Given the description of an element on the screen output the (x, y) to click on. 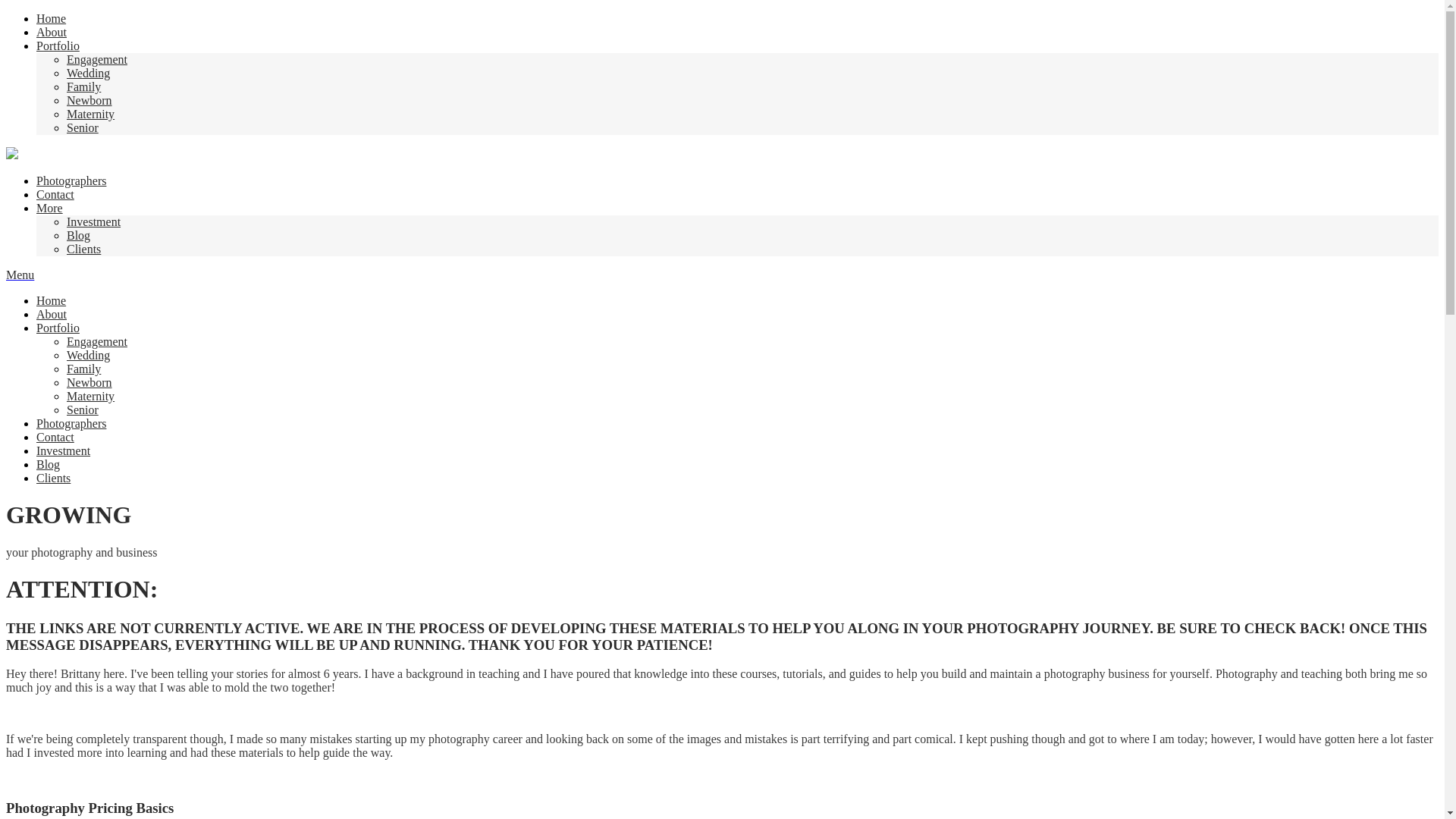
Photographers (71, 422)
Blog (47, 463)
Investment (63, 450)
Photographers (71, 180)
Clients (52, 477)
Family (83, 86)
Contact (55, 436)
Portfolio (58, 327)
Contact (55, 194)
Portfolio (58, 45)
Menu (19, 274)
Blog (78, 235)
Engagement (97, 59)
Family (83, 368)
Senior (82, 127)
